Given the description of an element on the screen output the (x, y) to click on. 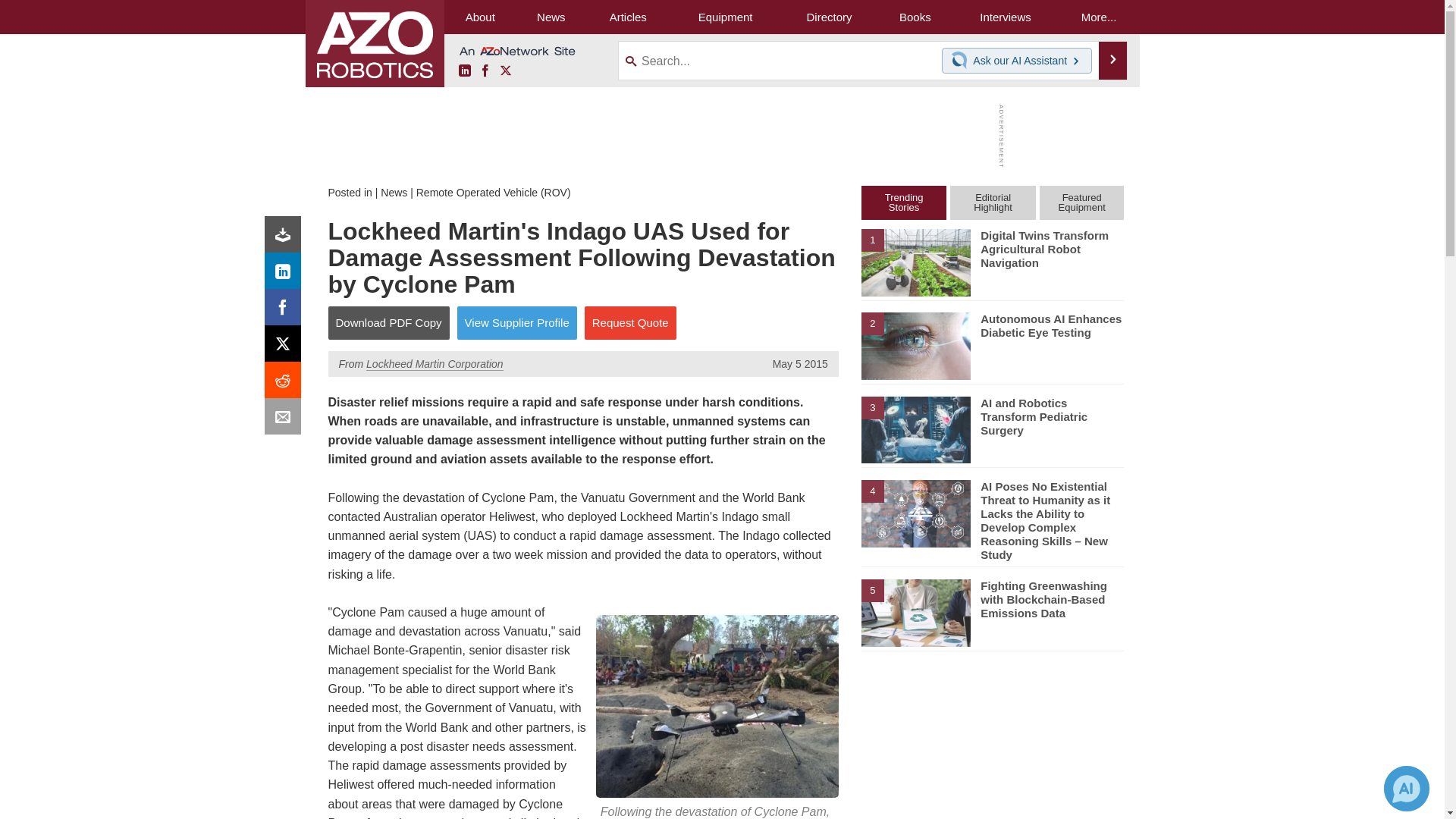
About (480, 17)
Download PDF copy (285, 238)
LinkedIn (285, 275)
Email (285, 420)
Articles (627, 17)
X (505, 71)
X (285, 348)
Chat with our AI Assistant (962, 60)
Books (914, 17)
LinkedIn (464, 71)
